Given the description of an element on the screen output the (x, y) to click on. 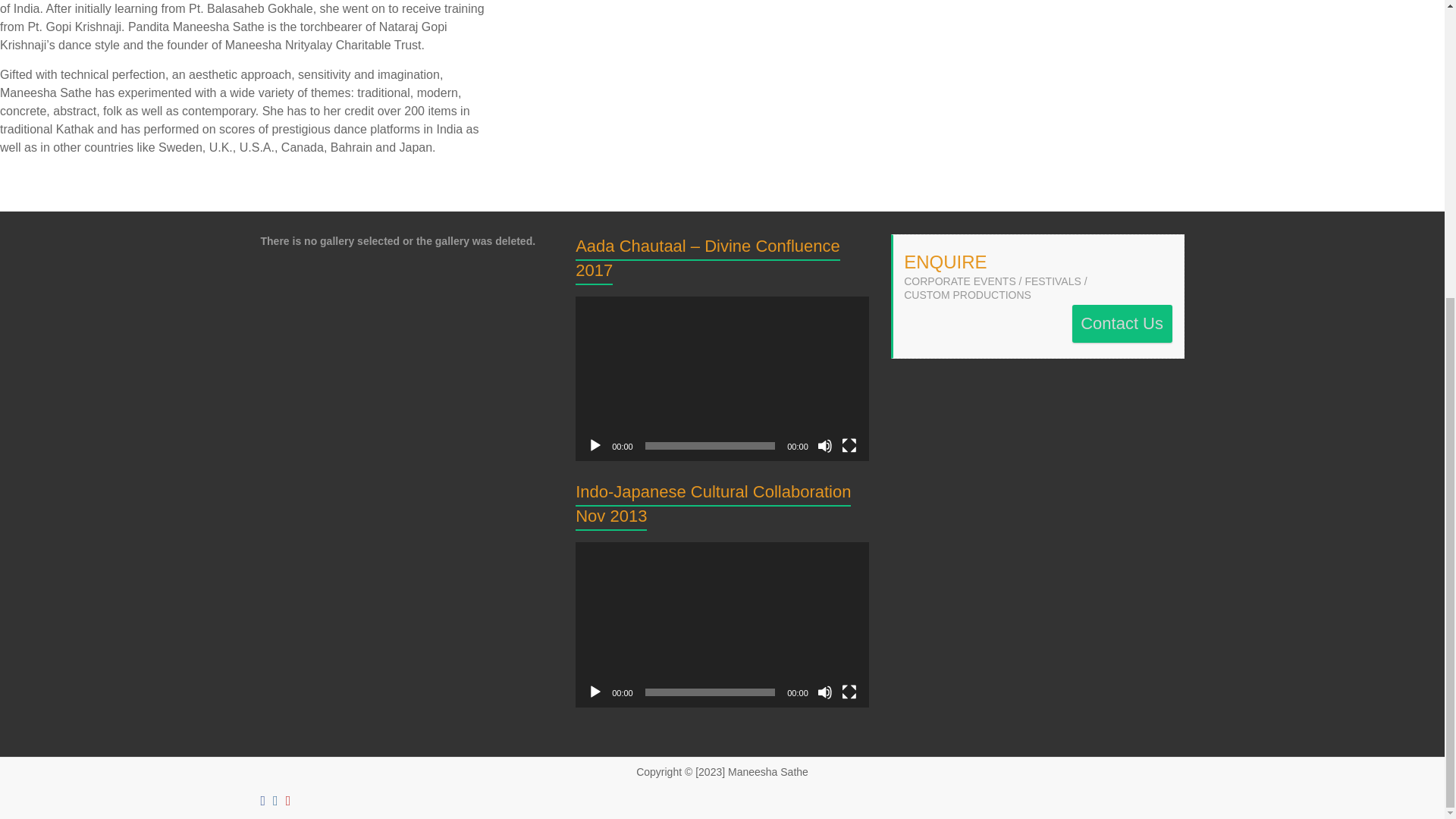
Fullscreen (849, 692)
Mute (824, 692)
Maneesha Sathe (768, 771)
Contact Us (1121, 323)
Contact Us (1121, 323)
Play (595, 445)
Fullscreen (849, 445)
Play (595, 692)
Maneesha Sathe (768, 771)
Mute (824, 445)
